Given the description of an element on the screen output the (x, y) to click on. 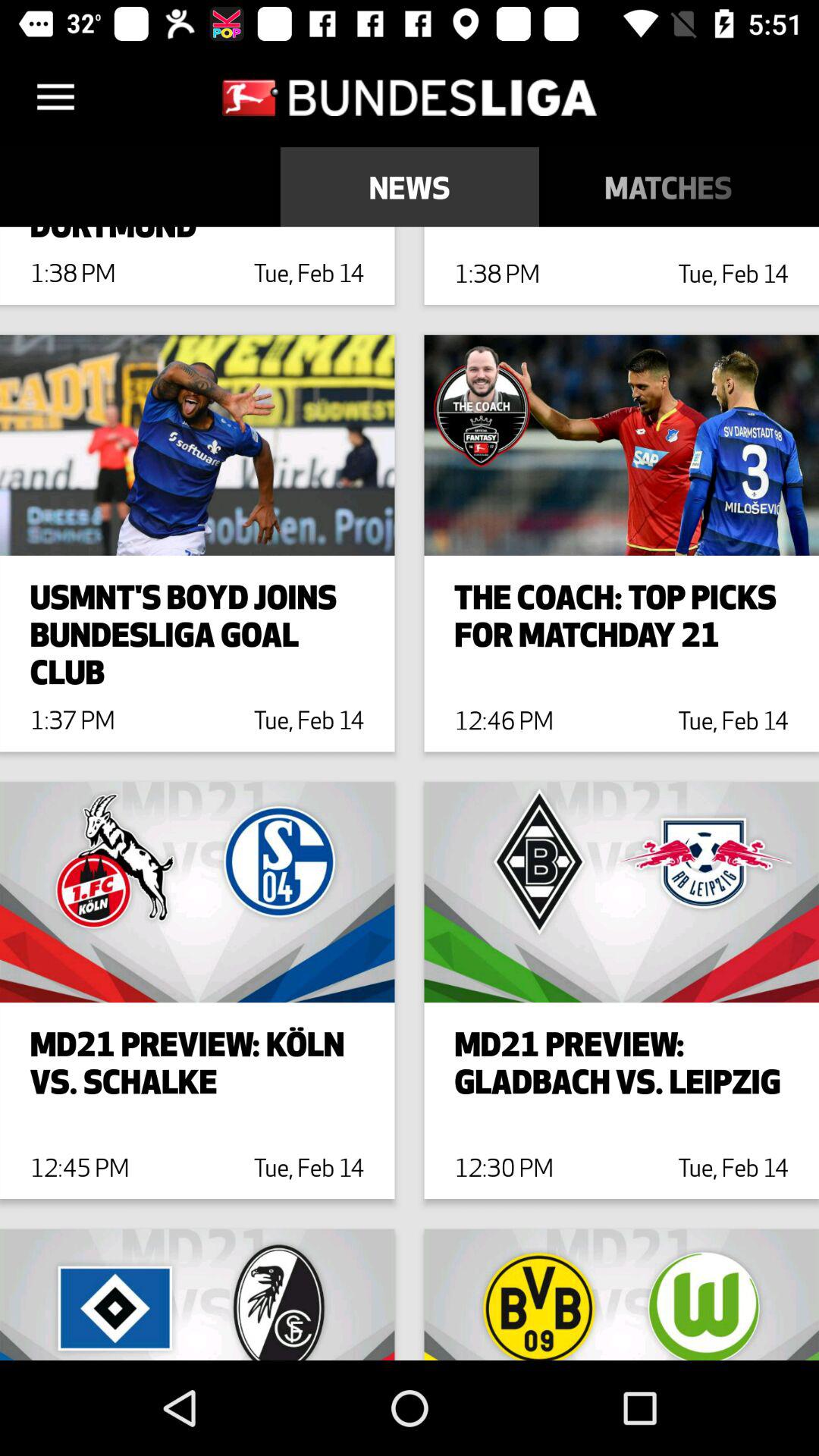
select the item next to matches icon (409, 186)
